Given the description of an element on the screen output the (x, y) to click on. 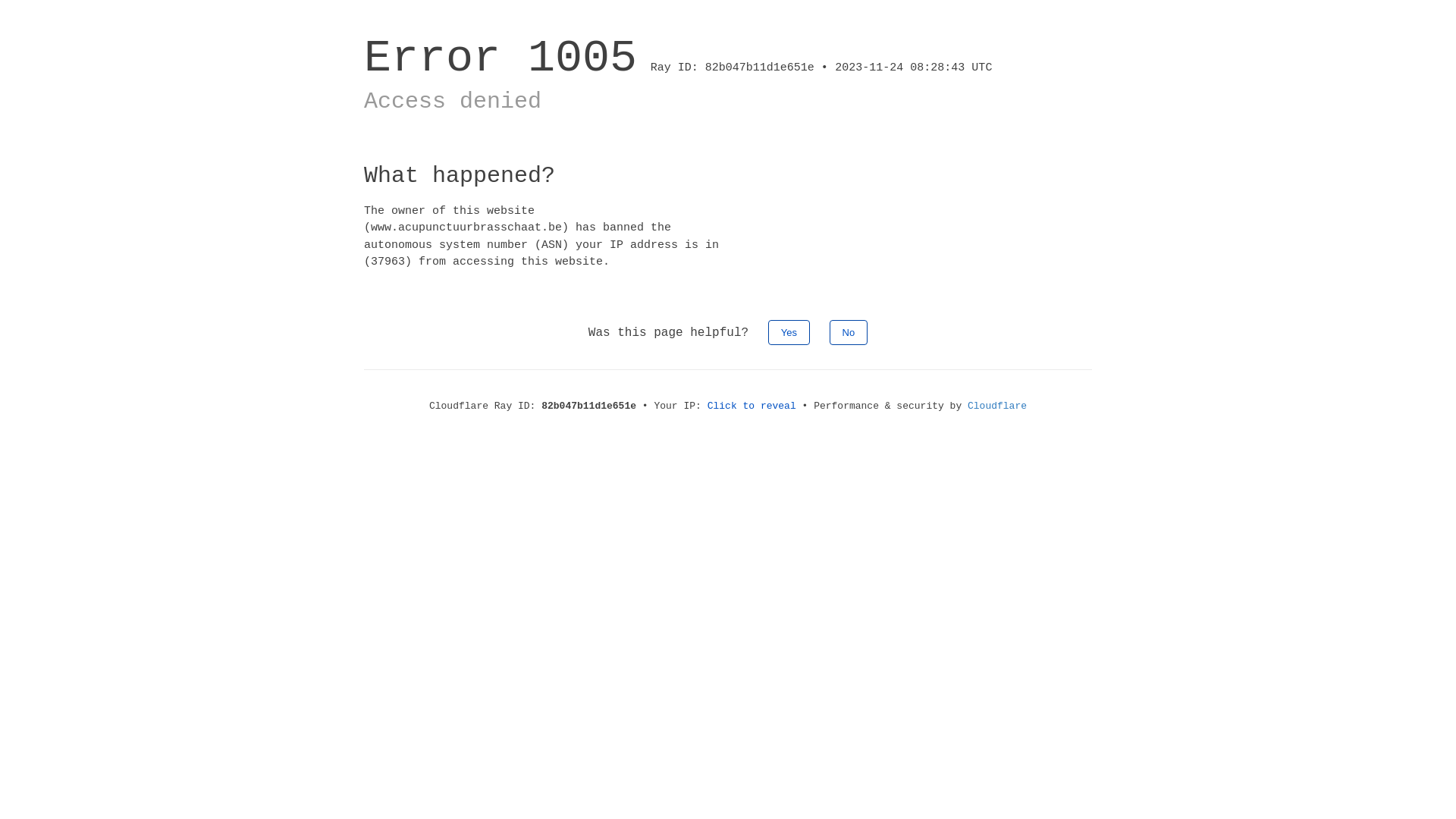
Yes Element type: text (788, 332)
Click to reveal Element type: text (751, 405)
No Element type: text (848, 332)
Cloudflare Element type: text (996, 405)
